Given the description of an element on the screen output the (x, y) to click on. 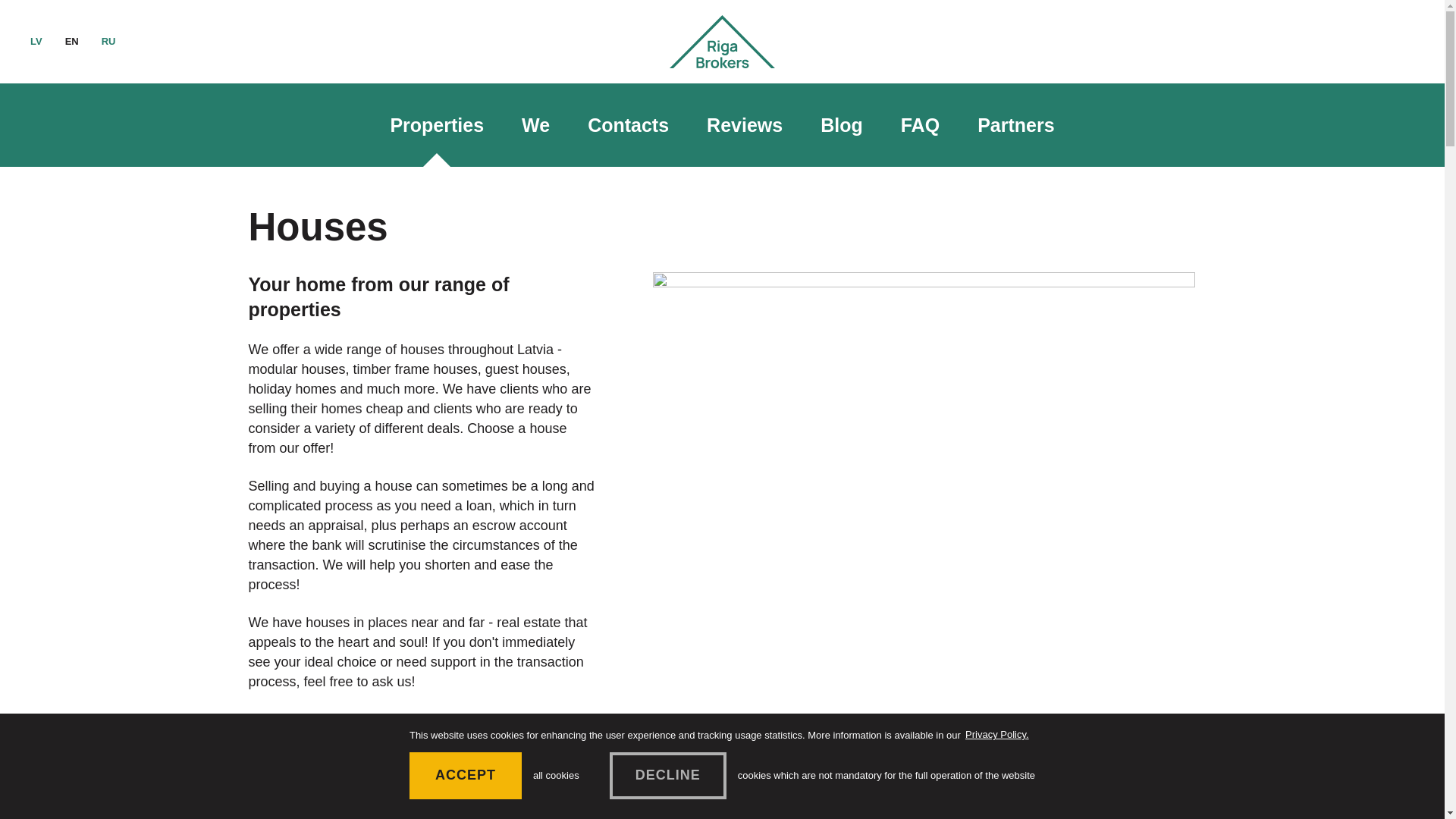
Partners (1015, 125)
DECLINE (668, 775)
Properties (436, 125)
Privacy Policy. (996, 734)
RU (108, 41)
Contacts (628, 125)
ACCEPT (465, 775)
LV (36, 41)
EN (71, 41)
Reviews (744, 125)
